Given the description of an element on the screen output the (x, y) to click on. 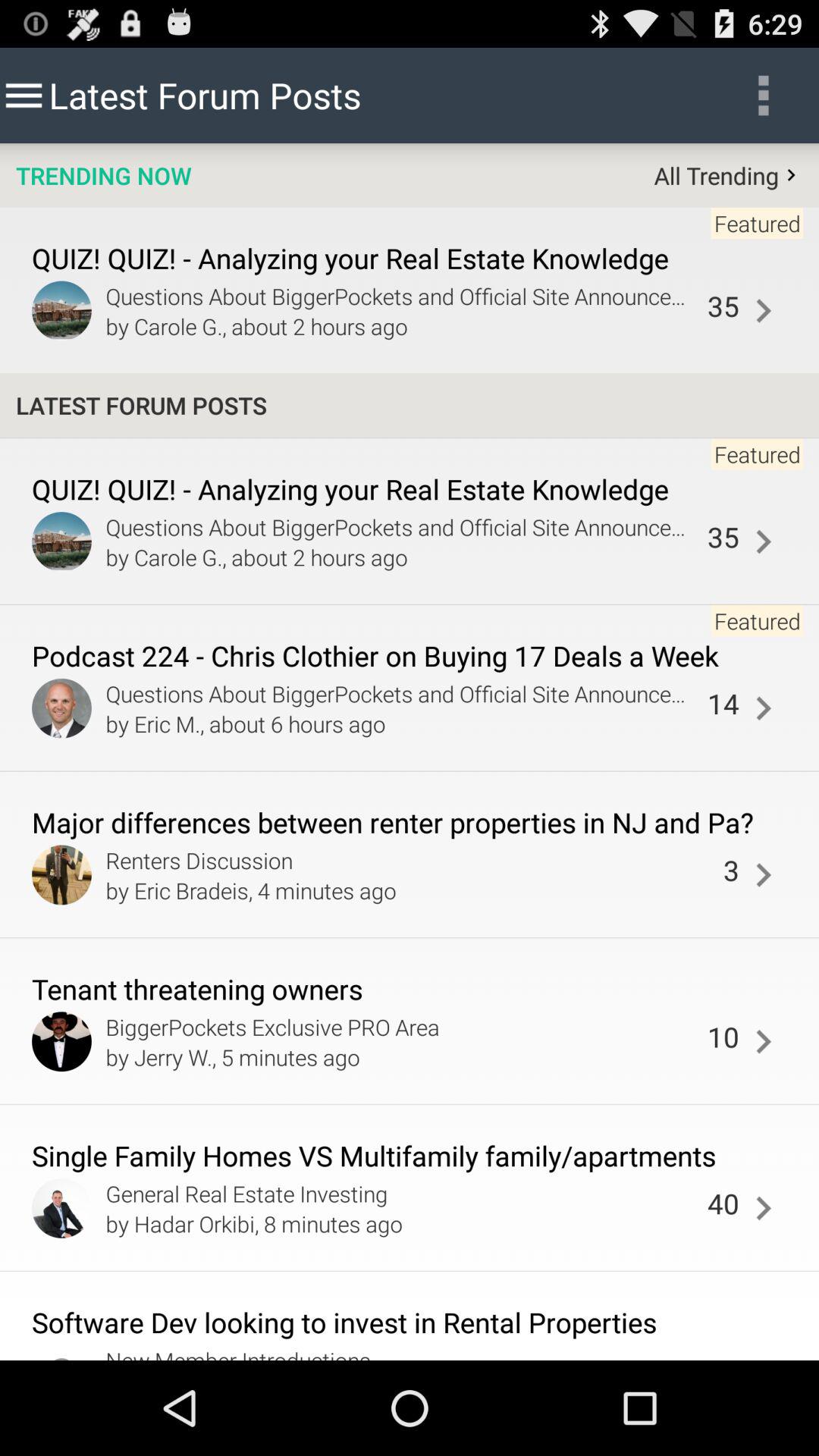
swipe until the renters discussion (410, 860)
